Given the description of an element on the screen output the (x, y) to click on. 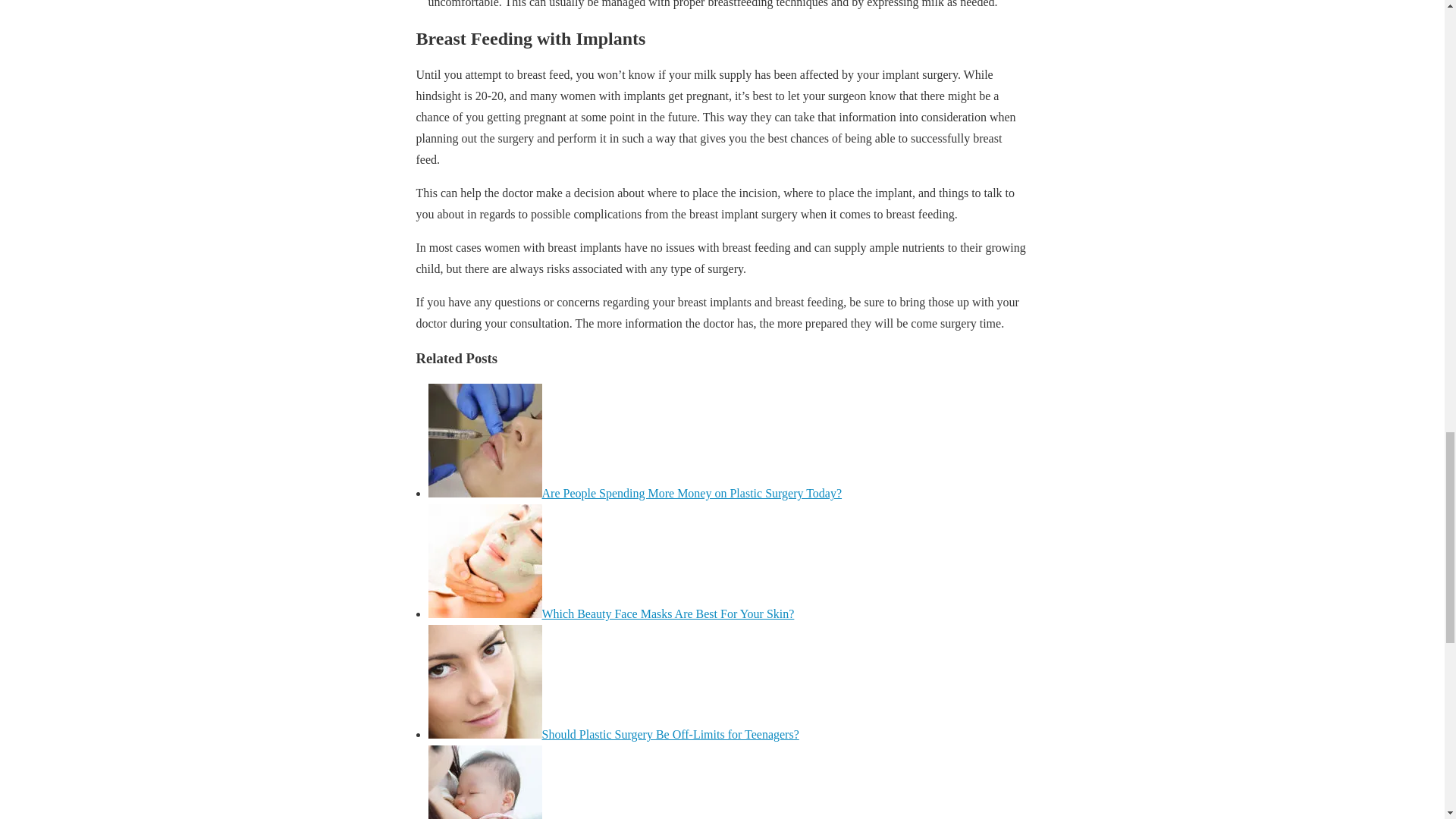
Which Beauty Face Masks Are Best For Your Skin? (667, 613)
Should Plastic Surgery Be Off-Limits for Teenagers? (669, 734)
Are People Spending More Money on Plastic Surgery Today? (691, 492)
